Given the description of an element on the screen output the (x, y) to click on. 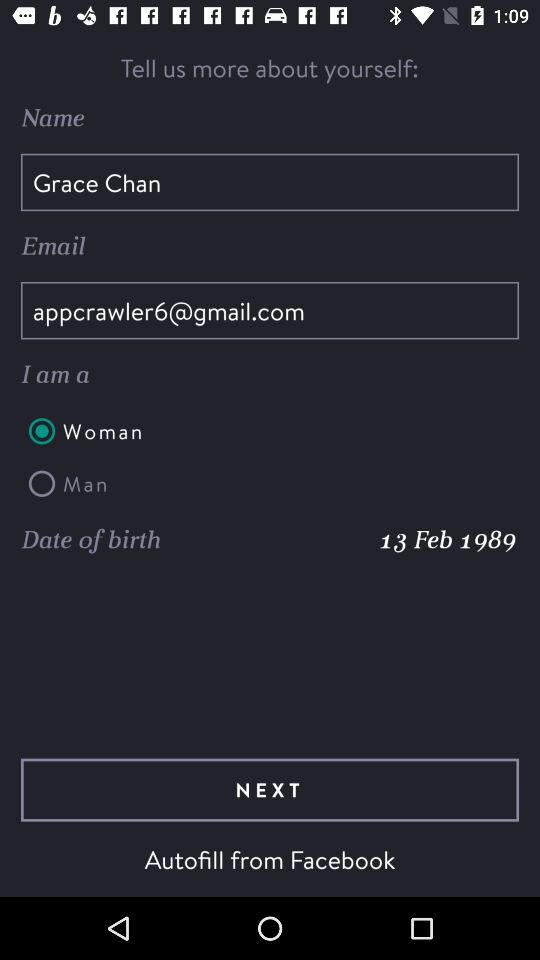
turn on item above autofill from facebook (270, 789)
